Given the description of an element on the screen output the (x, y) to click on. 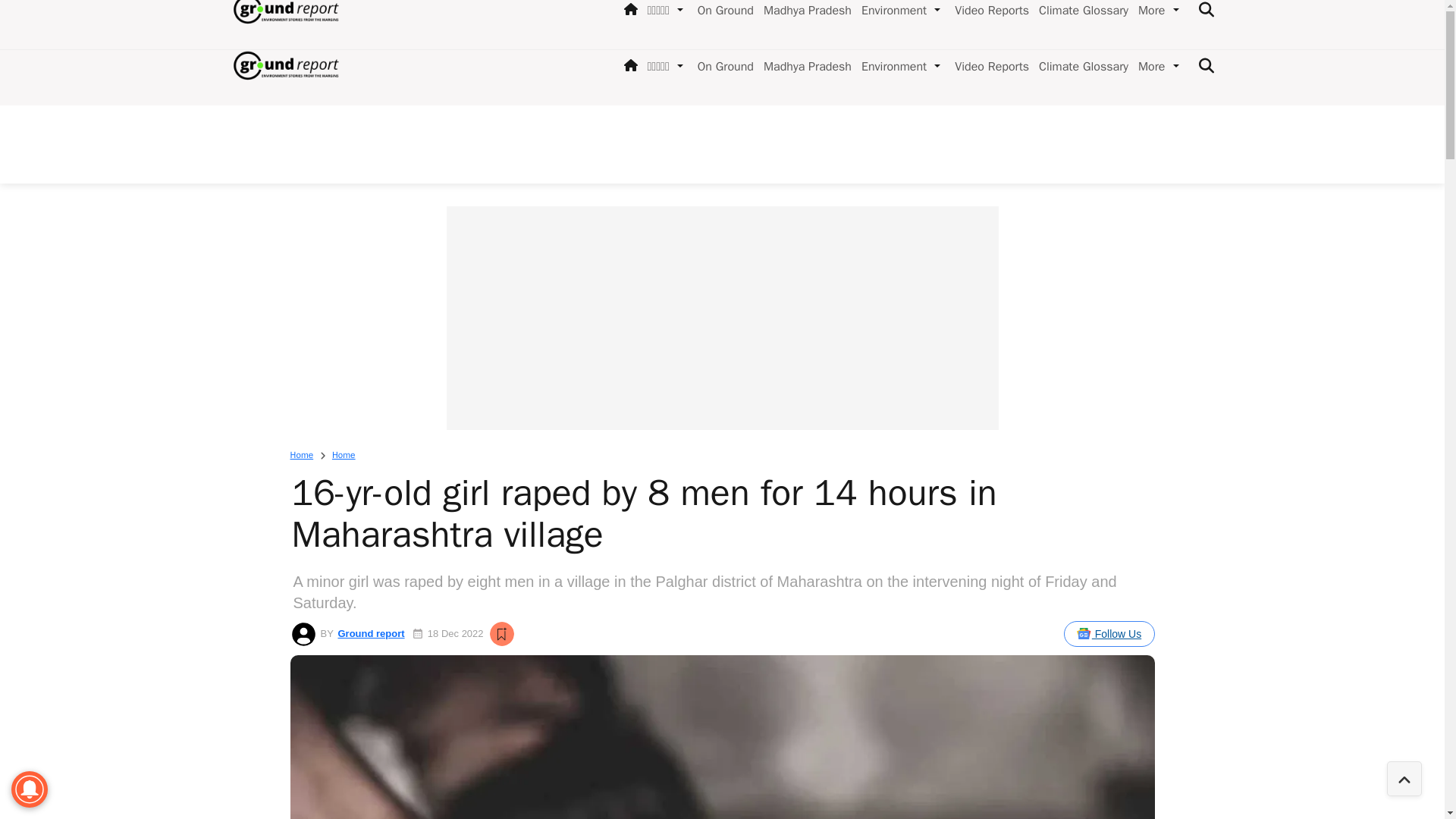
Madhya Pradesh (804, 66)
On Ground (722, 66)
Climate Glossary (1080, 66)
Environment (891, 66)
Video Reports (989, 66)
